Given the description of an element on the screen output the (x, y) to click on. 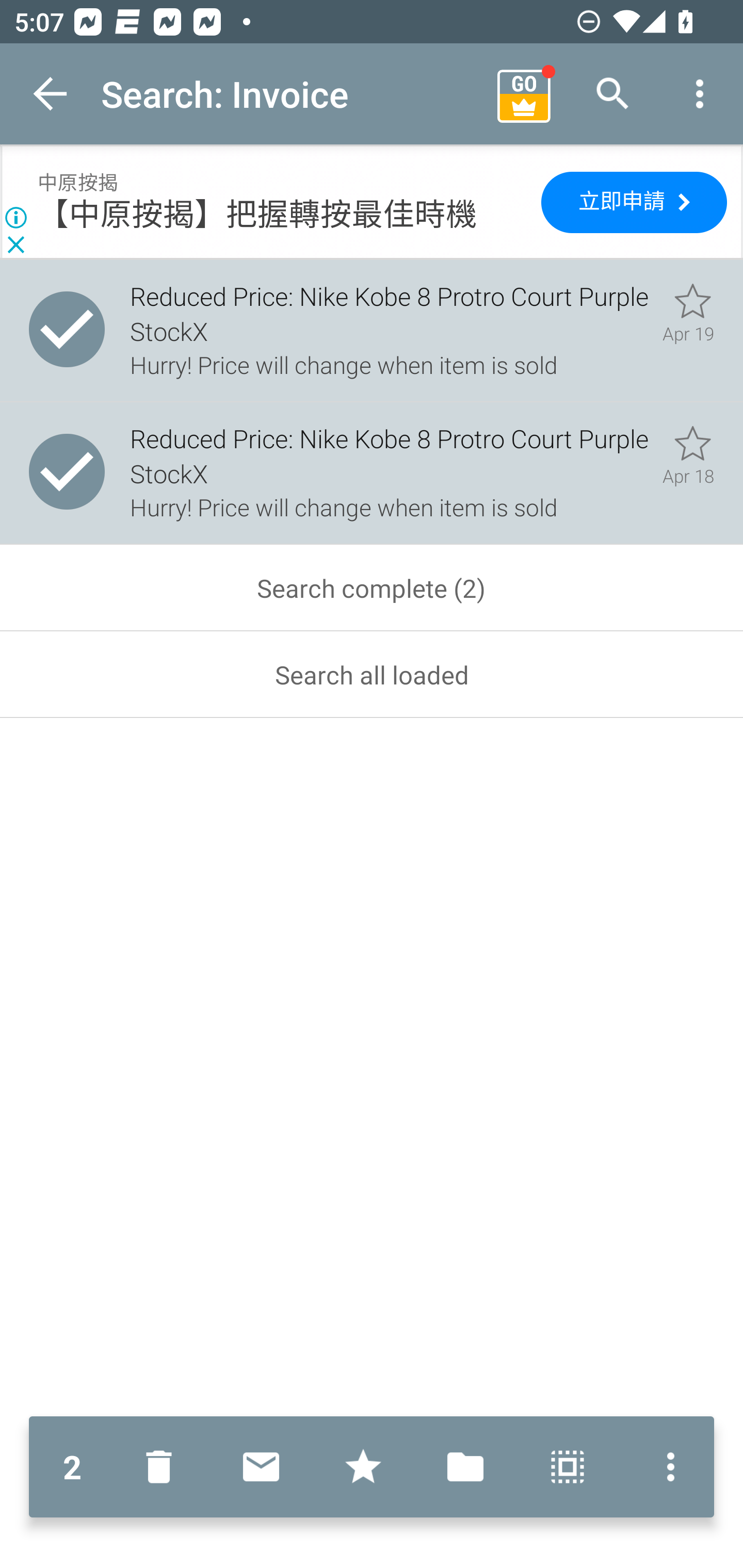
Navigate up (50, 93)
Search (612, 93)
More options (699, 93)
Search complete (2) (371, 587)
Search all loaded (371, 674)
2 2 messages (71, 1466)
Move to Deleted (162, 1466)
Mark unread (261, 1466)
Mark with stars (363, 1466)
Move to folder… (465, 1466)
Select all (567, 1466)
More options (666, 1466)
